Given the description of an element on the screen output the (x, y) to click on. 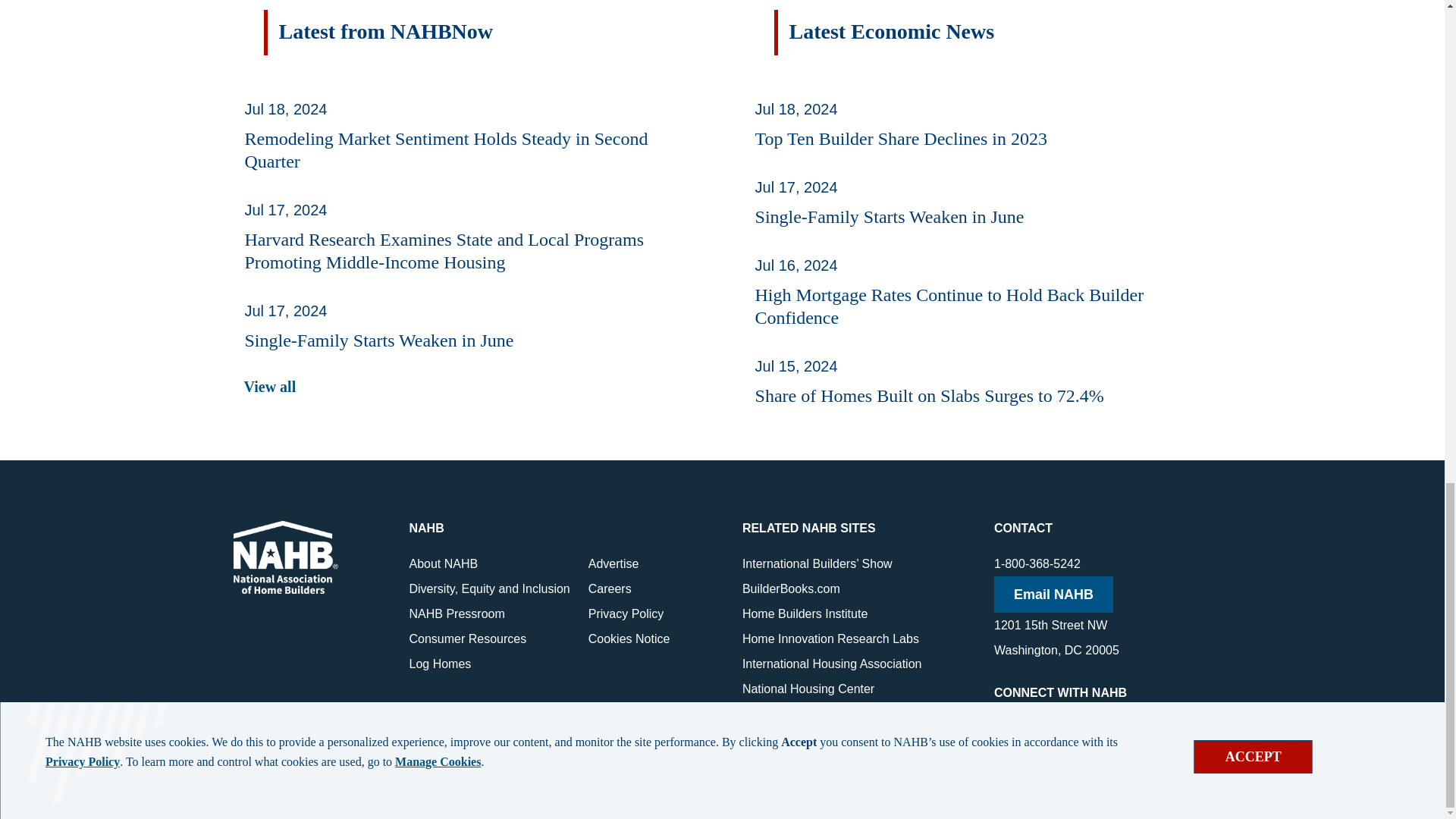
Opens a page (270, 386)
